Given the description of an element on the screen output the (x, y) to click on. 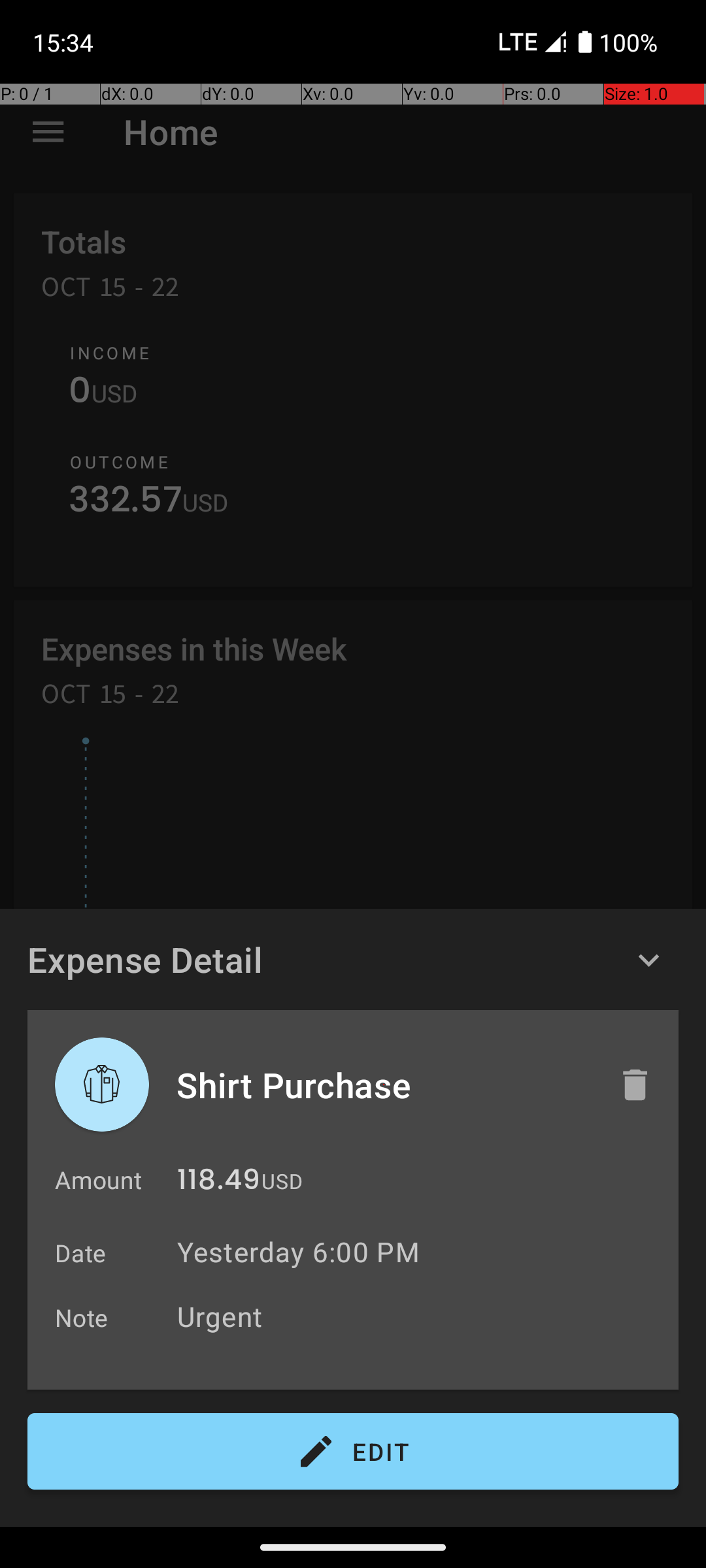
Shirt Purchase Element type: android.widget.TextView (383, 1084)
118.49 Element type: android.widget.TextView (218, 1182)
Yesterday 6:00 PM Element type: android.widget.TextView (298, 1251)
